Given the description of an element on the screen output the (x, y) to click on. 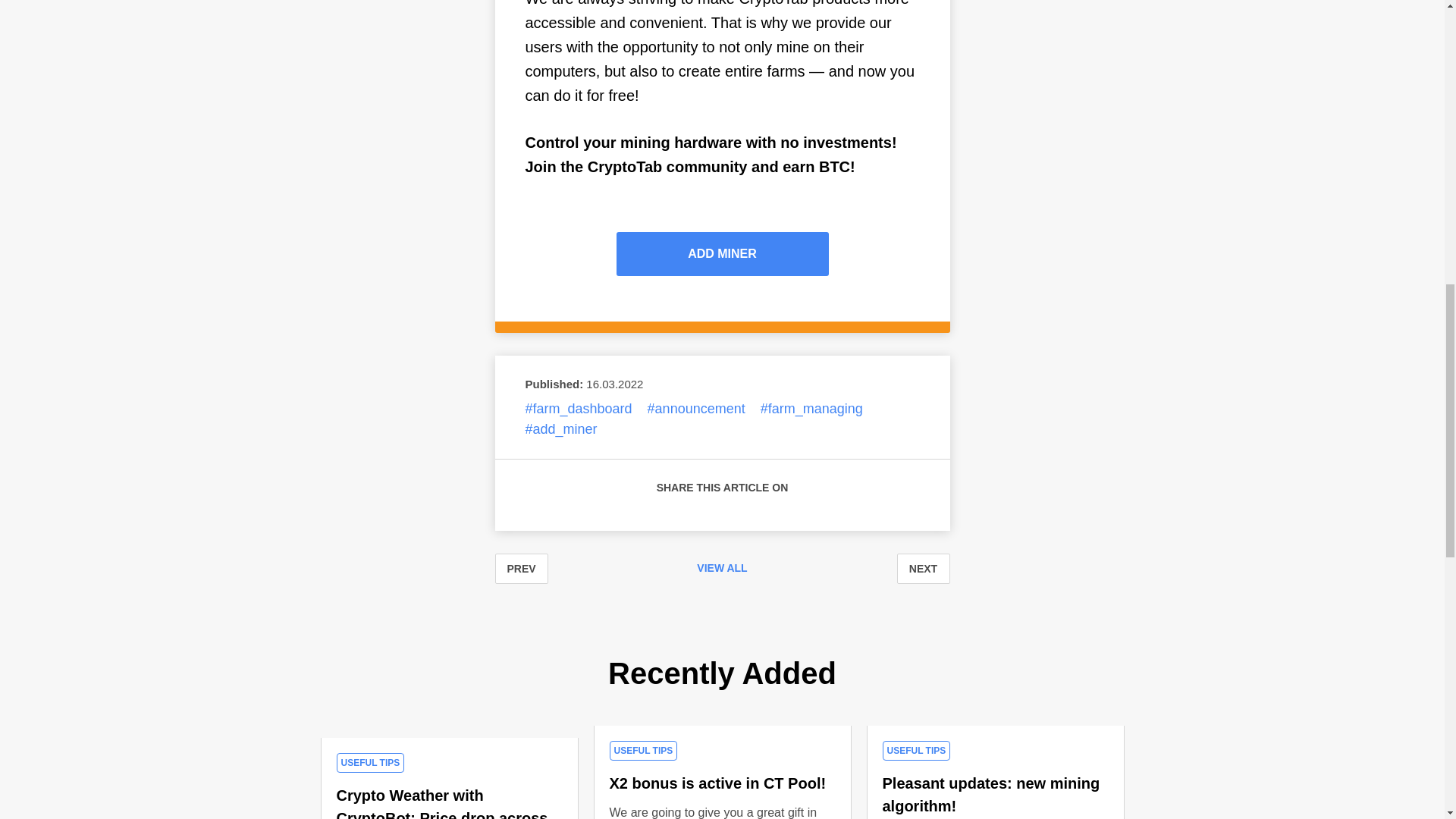
NEXT (922, 568)
PREV (521, 568)
VIEW ALL (721, 568)
ADD MINER (721, 253)
